Given the description of an element on the screen output the (x, y) to click on. 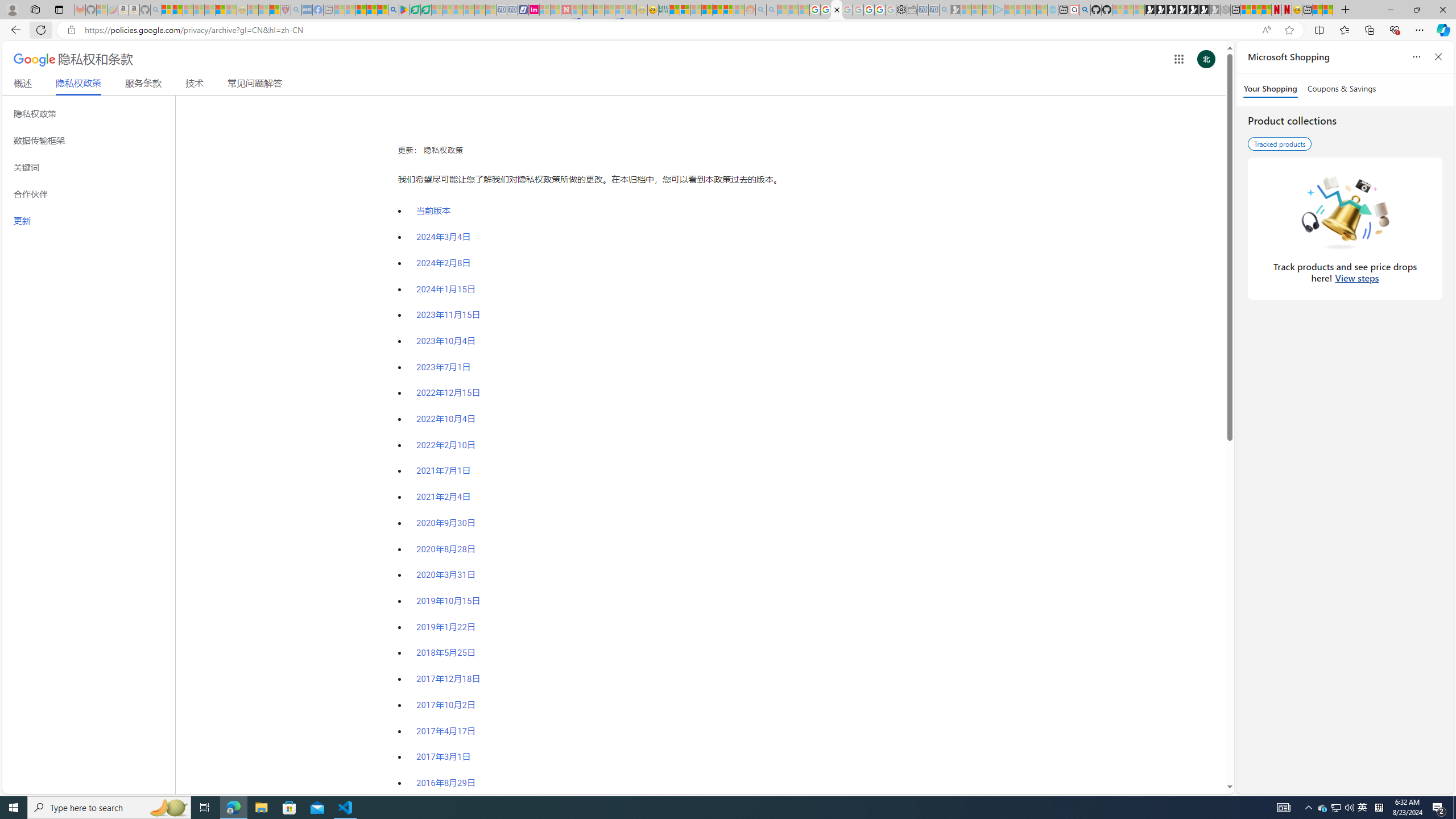
Bluey: Let's Play! - Apps on Google Play (404, 9)
